Given the description of an element on the screen output the (x, y) to click on. 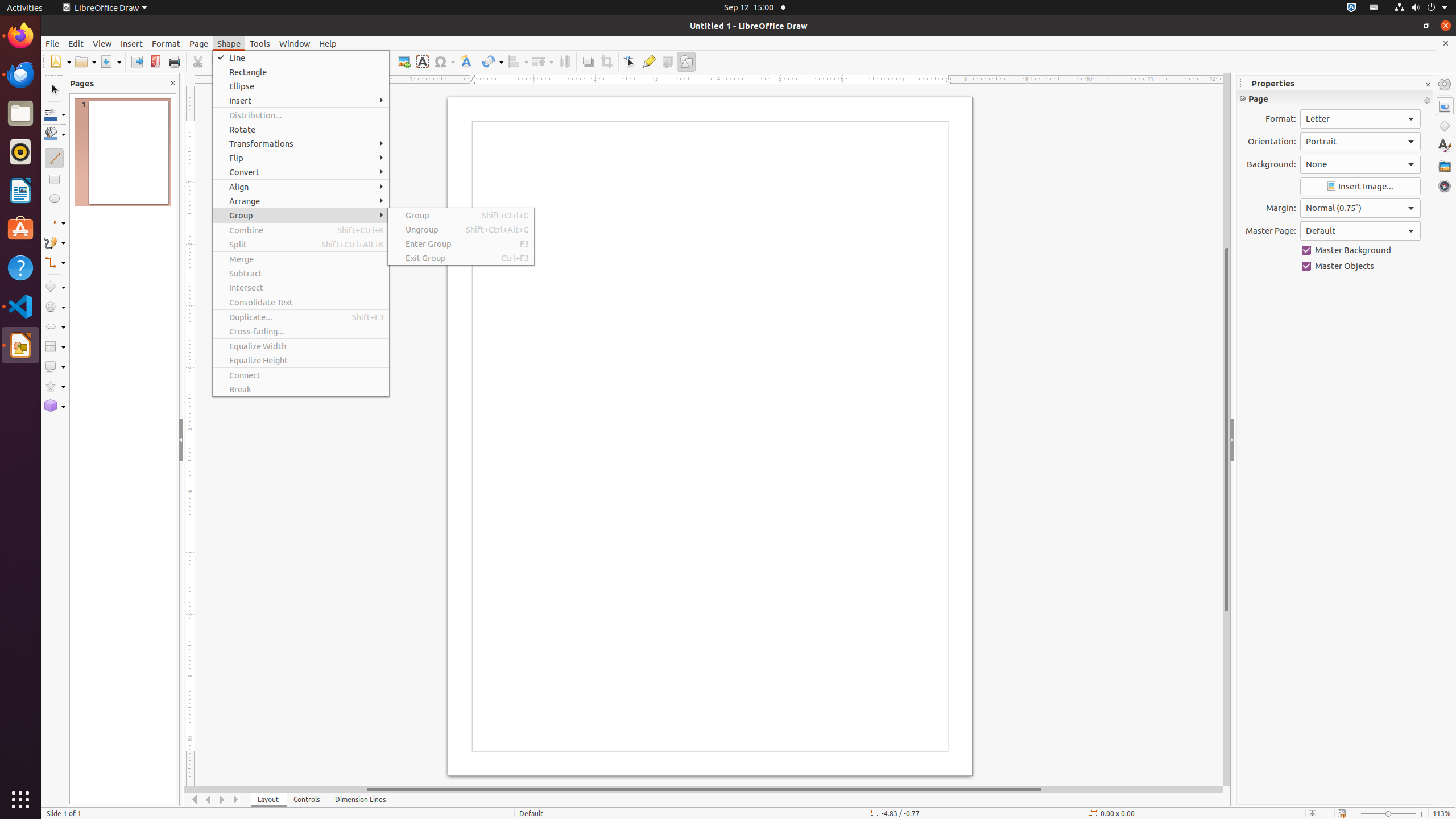
Line Color Element type: push-button (54, 113)
Vertical Ruler Element type: ruler (190, 436)
Ubuntu Software Element type: push-button (20, 229)
Edit Element type: menu (75, 43)
Equalize Width Element type: menu-item (300, 345)
